Given the description of an element on the screen output the (x, y) to click on. 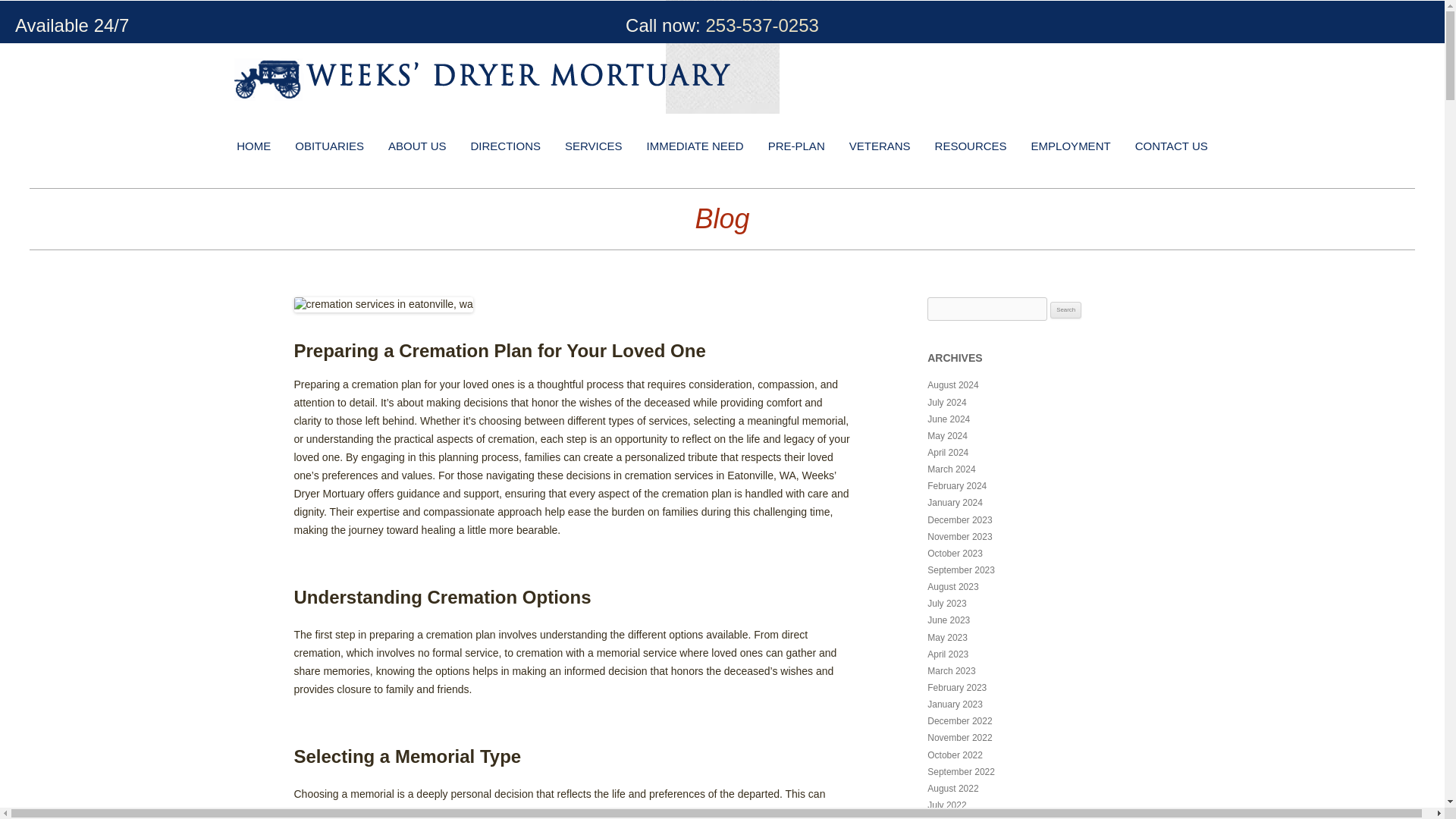
OBITUARIES (328, 145)
Search (1065, 310)
cremation services in Eatonville, WA (710, 475)
Preparing a Cremation Plan for Your Loved One (500, 350)
RESOURCES (971, 145)
ABOUT US (416, 145)
EMPLOYMENT (1070, 145)
VETERANS (880, 145)
PRE-PLAN (796, 145)
HOME (253, 145)
